Given the description of an element on the screen output the (x, y) to click on. 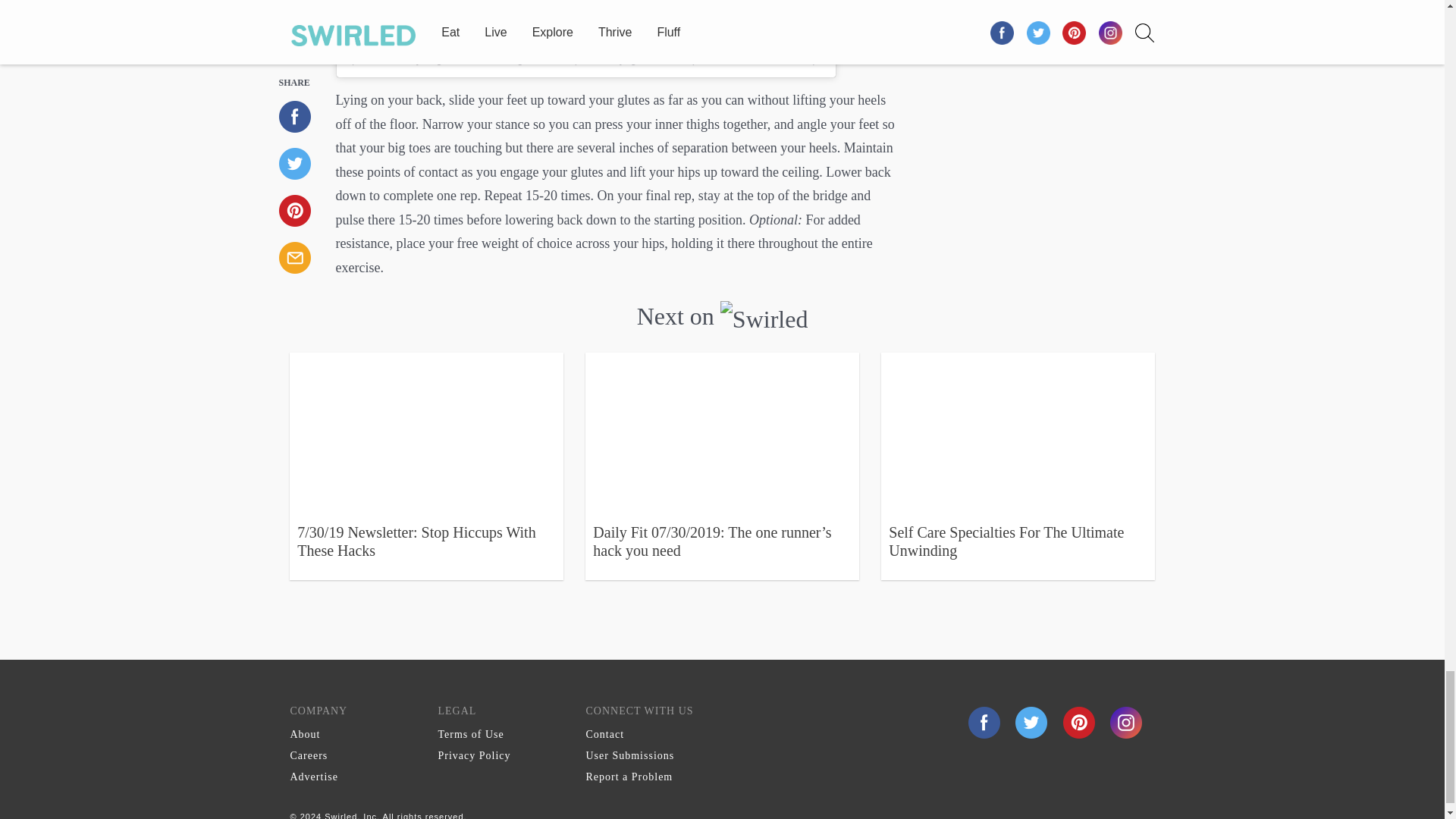
Twitter (1033, 721)
Instagram (1125, 721)
Facebook (984, 721)
Pinterest (1081, 721)
